Given the description of an element on the screen output the (x, y) to click on. 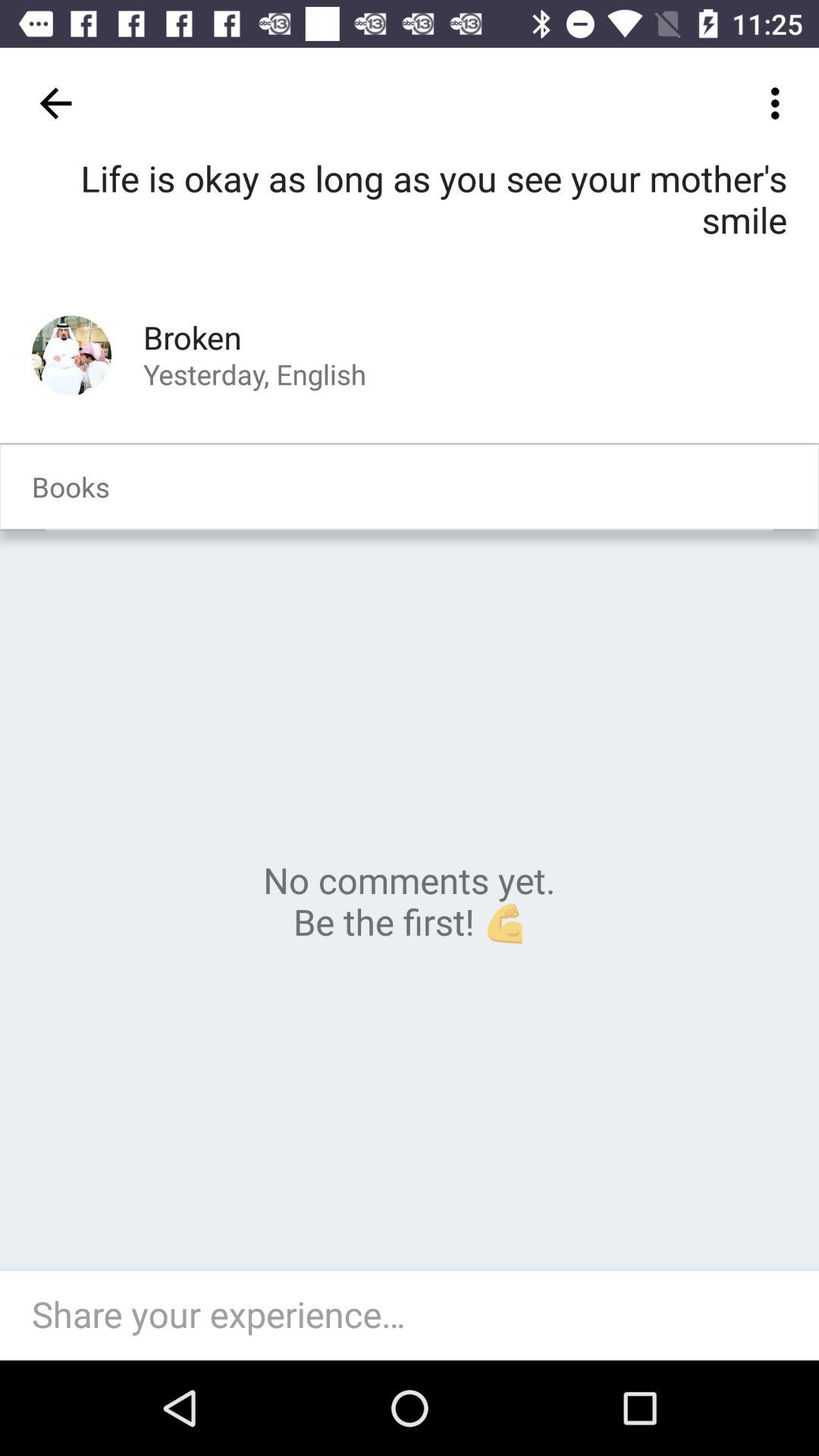
select item to the left of broken icon (71, 355)
